Given the description of an element on the screen output the (x, y) to click on. 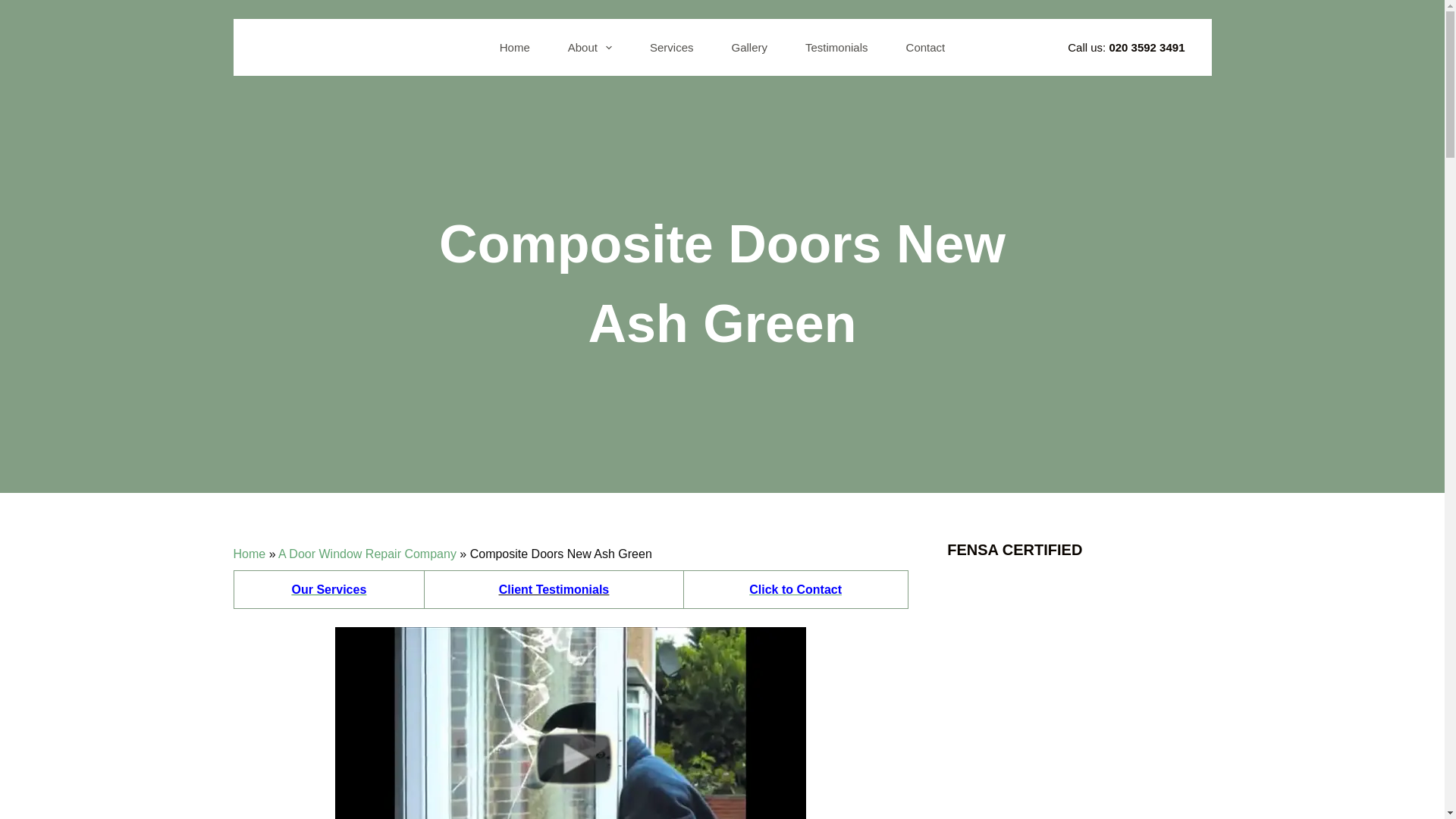
upvc (795, 589)
A Door Window Repair Company (367, 553)
Click to Contact (795, 589)
020 3592 3491 (1146, 47)
Skip to content (15, 7)
Client Testimonials (554, 589)
Gallery (750, 47)
Testimonials (836, 47)
repair (554, 589)
Double Glazing Door Repair (570, 723)
Our Services (329, 589)
Home (514, 47)
windows (329, 589)
Services (671, 47)
A Door Window Repair Company (367, 553)
